Given the description of an element on the screen output the (x, y) to click on. 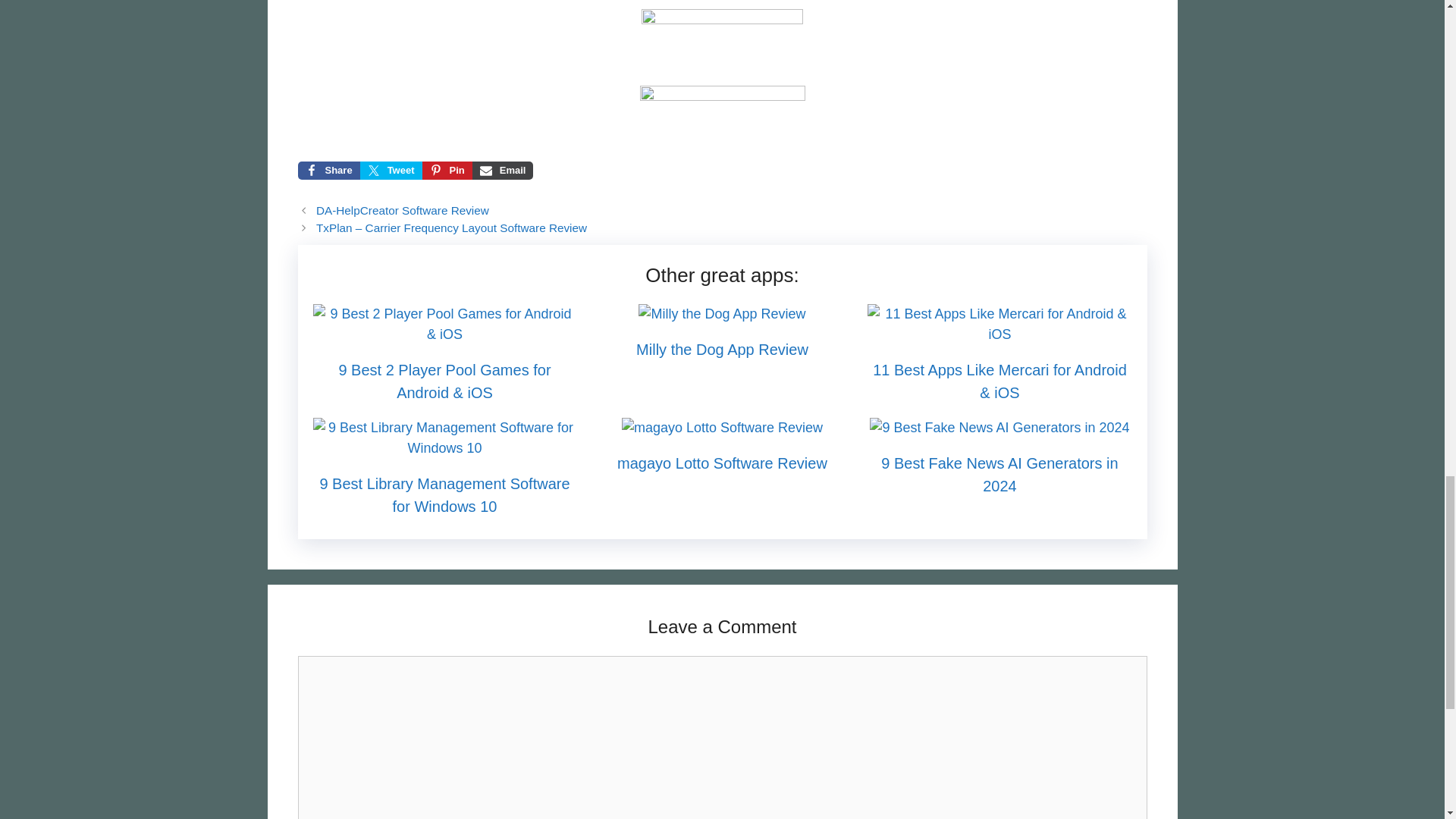
Email (502, 170)
9 Best Fake News AI Generators in 2024 (999, 427)
9 Best Fake News AI Generators in 2024 (999, 474)
Share (328, 170)
magayo Lotto Software Review (721, 427)
Share on Twitter (390, 170)
magayo Lotto Software Review (722, 463)
Pin (446, 170)
Email (502, 170)
Tweet (390, 170)
Milly the Dog App Review (722, 349)
Share via Email (502, 170)
Share on Facebook (328, 170)
9 Best Library Management Software for Windows 10 (443, 495)
9 Best Library Management Software for Windows 10 (444, 447)
